Given the description of an element on the screen output the (x, y) to click on. 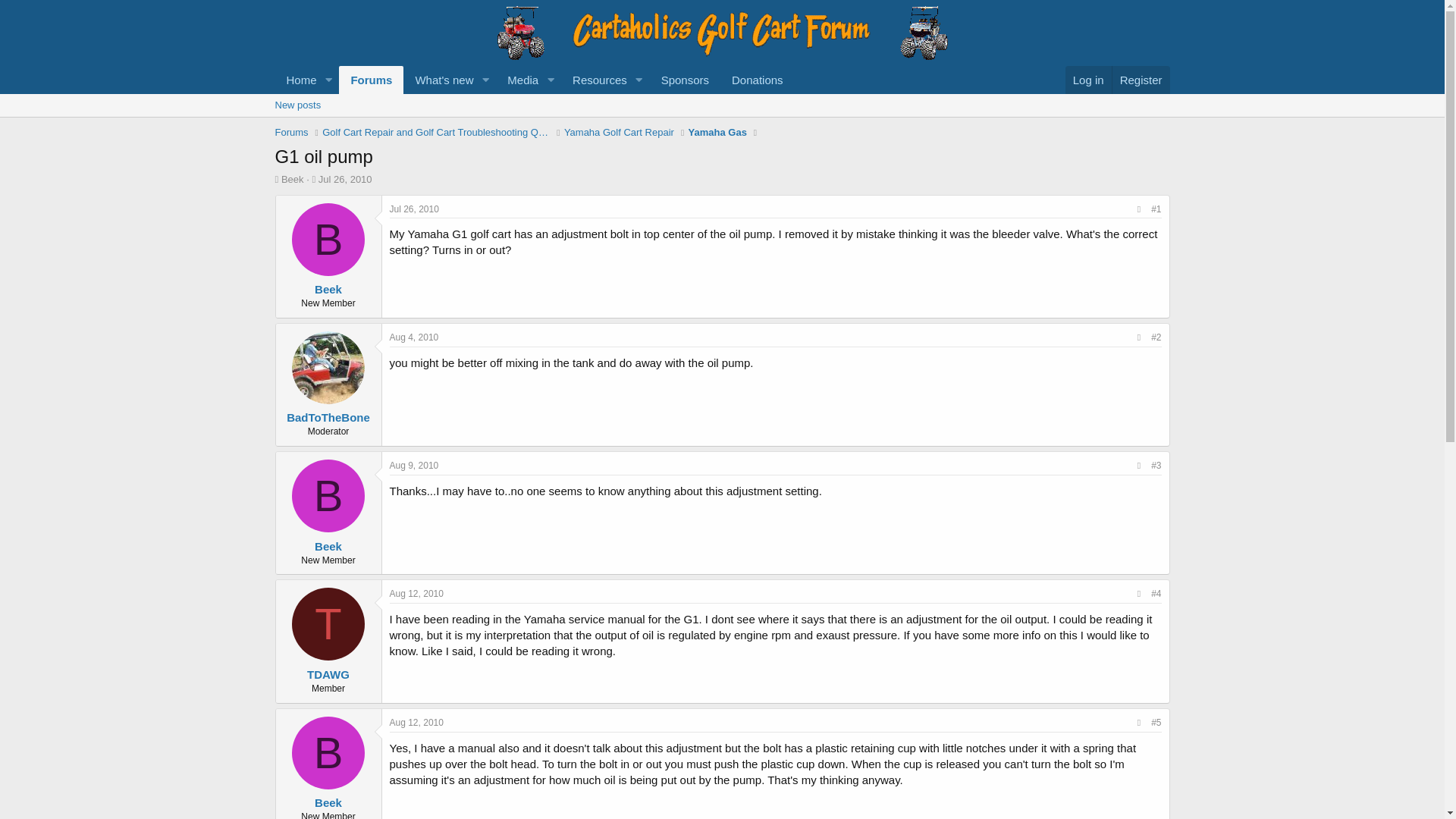
Aug 4, 2010 at 5:46 PM (414, 337)
Jul 26, 2010 at 2:02 PM (345, 179)
New posts (296, 105)
Resources (594, 80)
Forums (371, 80)
What's new (438, 80)
Yamaha Golf Cart Repair (619, 132)
Media (518, 80)
Aug 12, 2010 at 7:22 AM (417, 722)
Forums (291, 132)
Jul 26, 2010 at 2:02 PM (414, 208)
Donations (757, 80)
Register (1141, 80)
Aug 9, 2010 at 9:10 AM (414, 465)
Aug 12, 2010 at 12:14 AM (417, 593)
